Given the description of an element on the screen output the (x, y) to click on. 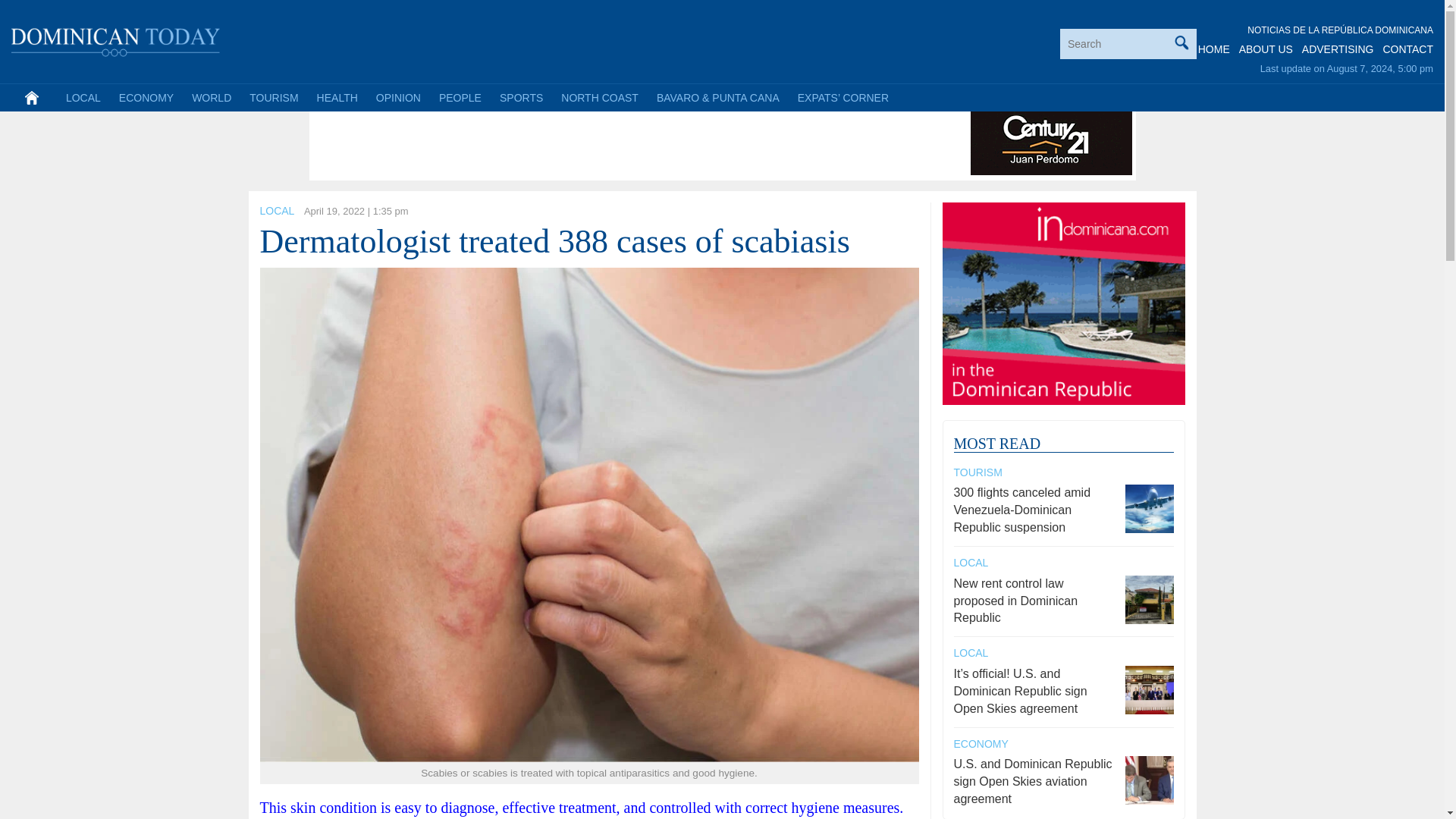
ABOUT US (1265, 49)
OPINION (397, 97)
LOCAL (276, 210)
CONTACT (1406, 49)
ECONOMY (146, 97)
TOURISM (273, 97)
HEALTH (336, 97)
Dominican Today News - Santo Domingo and Dominican Republic (116, 38)
NORTH COAST (599, 97)
LOCAL (83, 97)
ADVERTISING (1337, 49)
WORLD (211, 97)
HOME (1214, 49)
PEOPLE (459, 97)
